Given the description of an element on the screen output the (x, y) to click on. 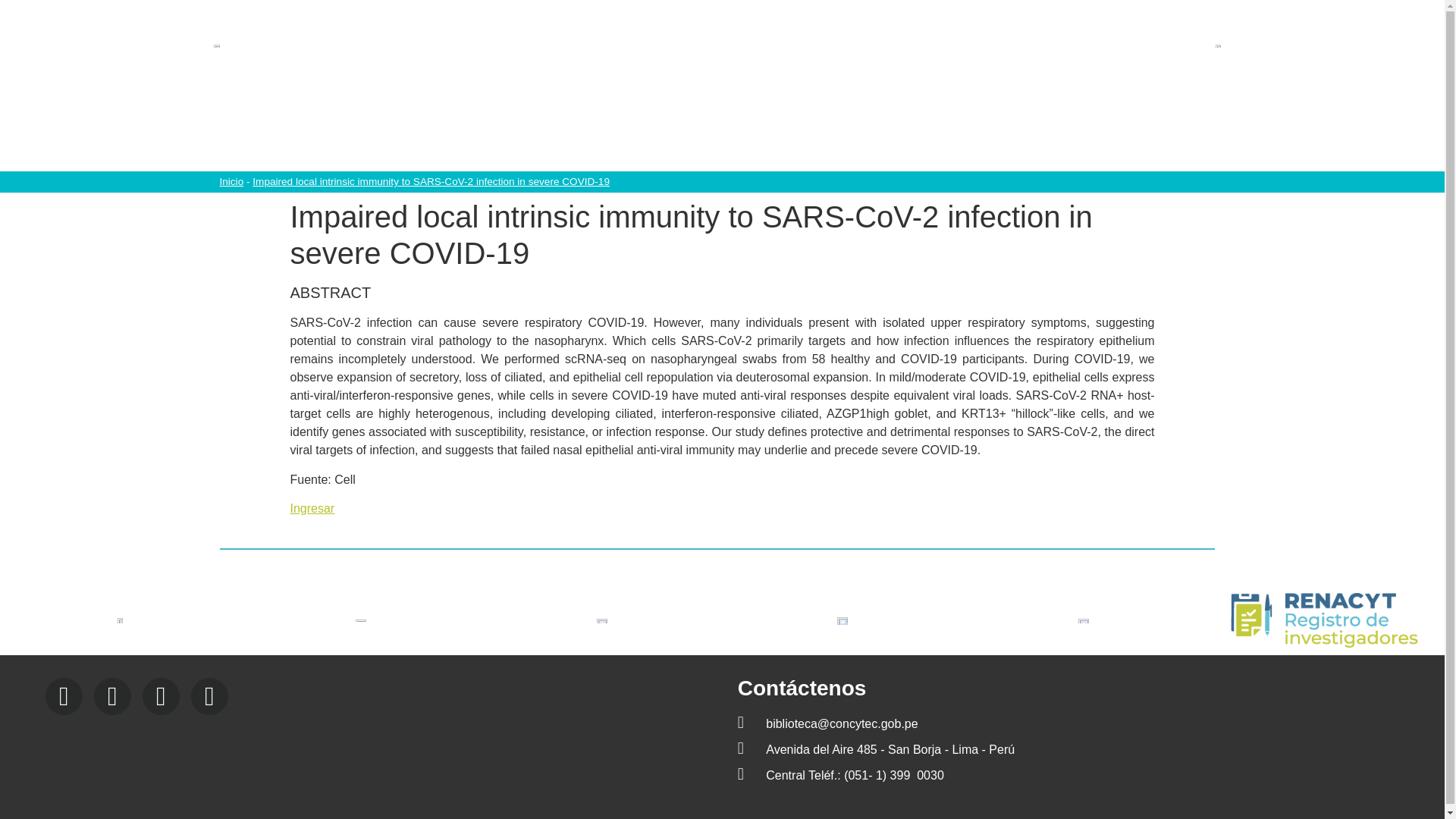
Inicio (456, 130)
Capacitaciones (737, 130)
Acerca de (531, 130)
Inicio (231, 181)
Colecciones (627, 130)
Ingresar (311, 508)
Revistas (977, 130)
